Given the description of an element on the screen output the (x, y) to click on. 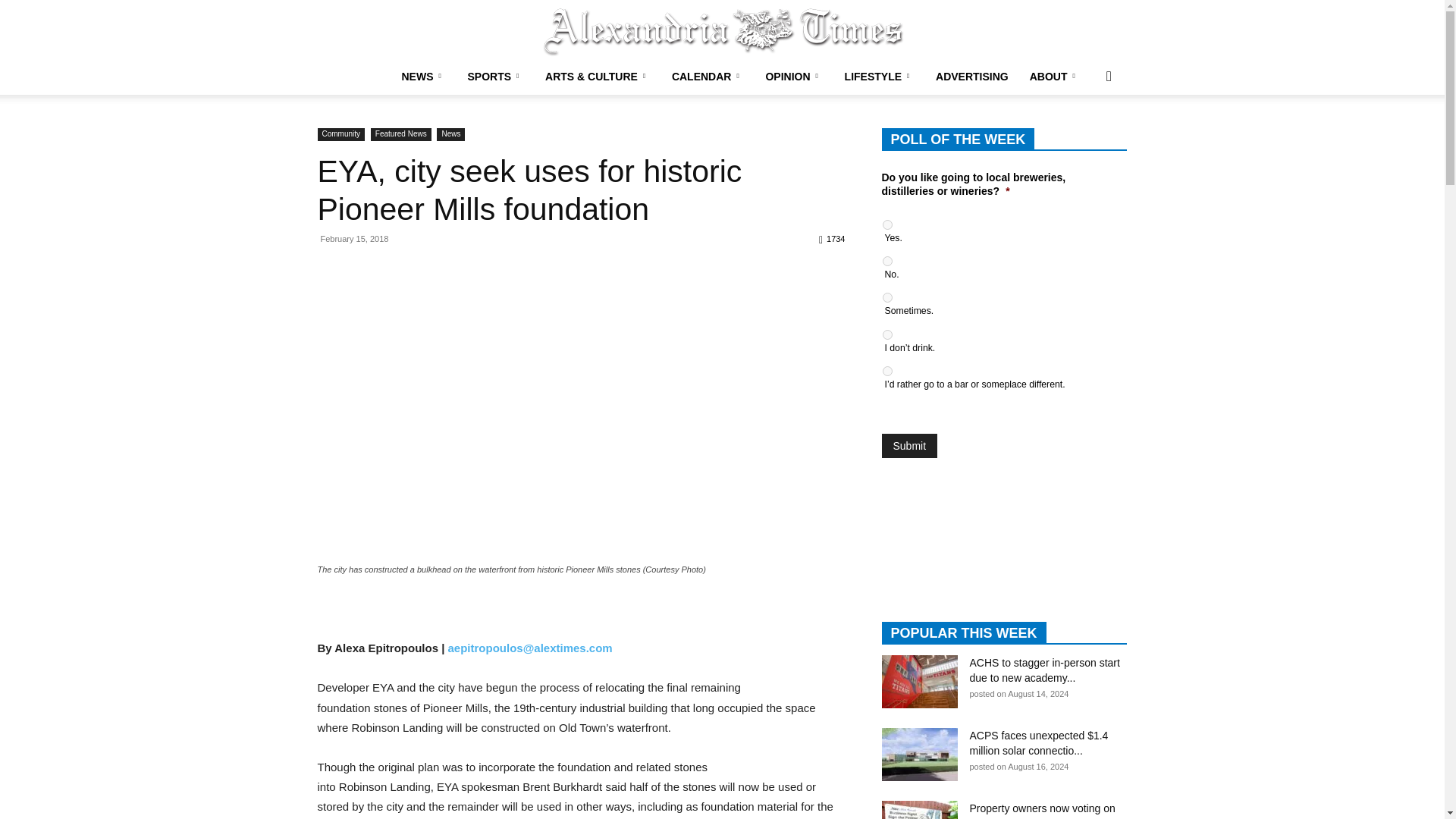
Share by email (419, 617)
gpoll16688ac5e (887, 297)
Share on Facebook (338, 617)
gpoll17f78fa0c (887, 261)
EYA, city seek uses for historic Pioneer Mills foundation (529, 189)
Share on Twitter (379, 617)
gpoll1c49897e3 (887, 334)
Alexandria Times (722, 29)
gpoll14150f183 (887, 370)
Submit (908, 445)
